Given the description of an element on the screen output the (x, y) to click on. 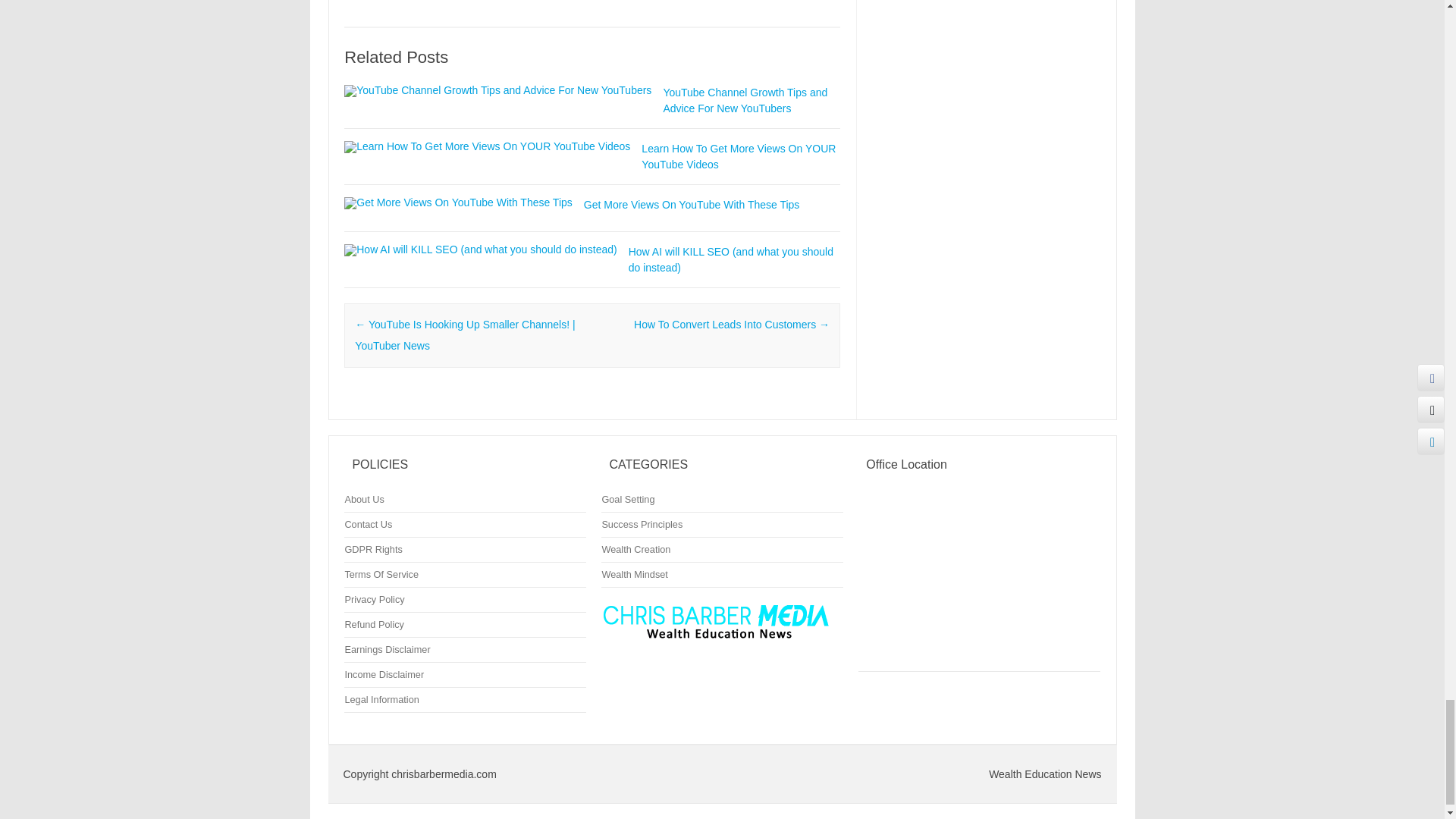
YouTube Channel Growth Tips and Advice For New YouTubers (744, 100)
Get More Views On YouTube With These Tips (691, 204)
Learn How To Get More Views On YOUR YouTube Videos (486, 146)
Get More Views On YouTube With These Tips (691, 204)
Learn How To Get More Views On YOUR YouTube Videos (738, 156)
Learn How To Get More Views On YOUR YouTube Videos (738, 156)
Get More Views On YouTube With These Tips (457, 202)
YouTube Channel Growth Tips and Advice For New YouTubers (744, 100)
YouTube Channel Growth Tips and Advice For New YouTubers (496, 90)
